Given the description of an element on the screen output the (x, y) to click on. 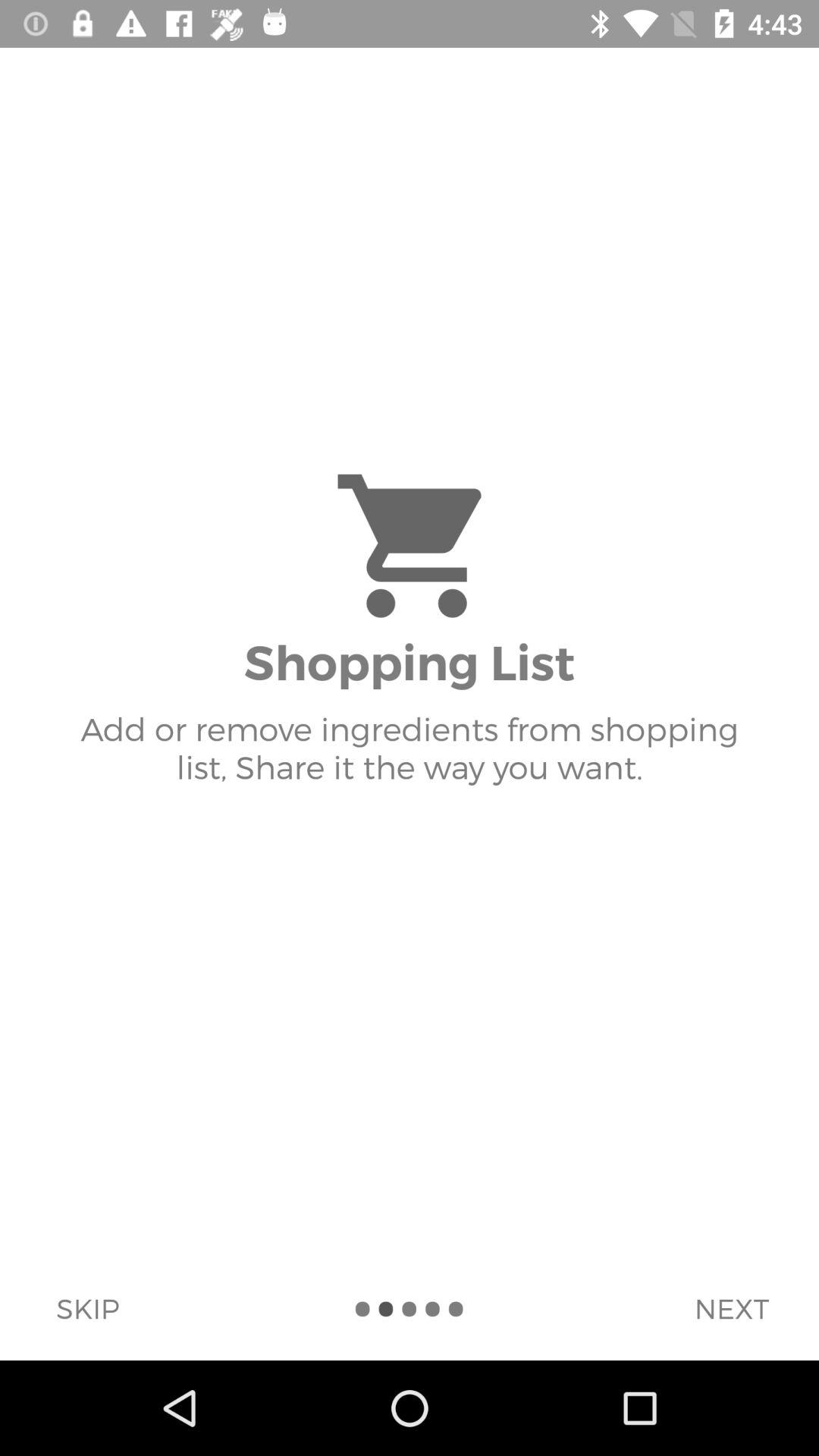
turn off the next icon (731, 1308)
